Given the description of an element on the screen output the (x, y) to click on. 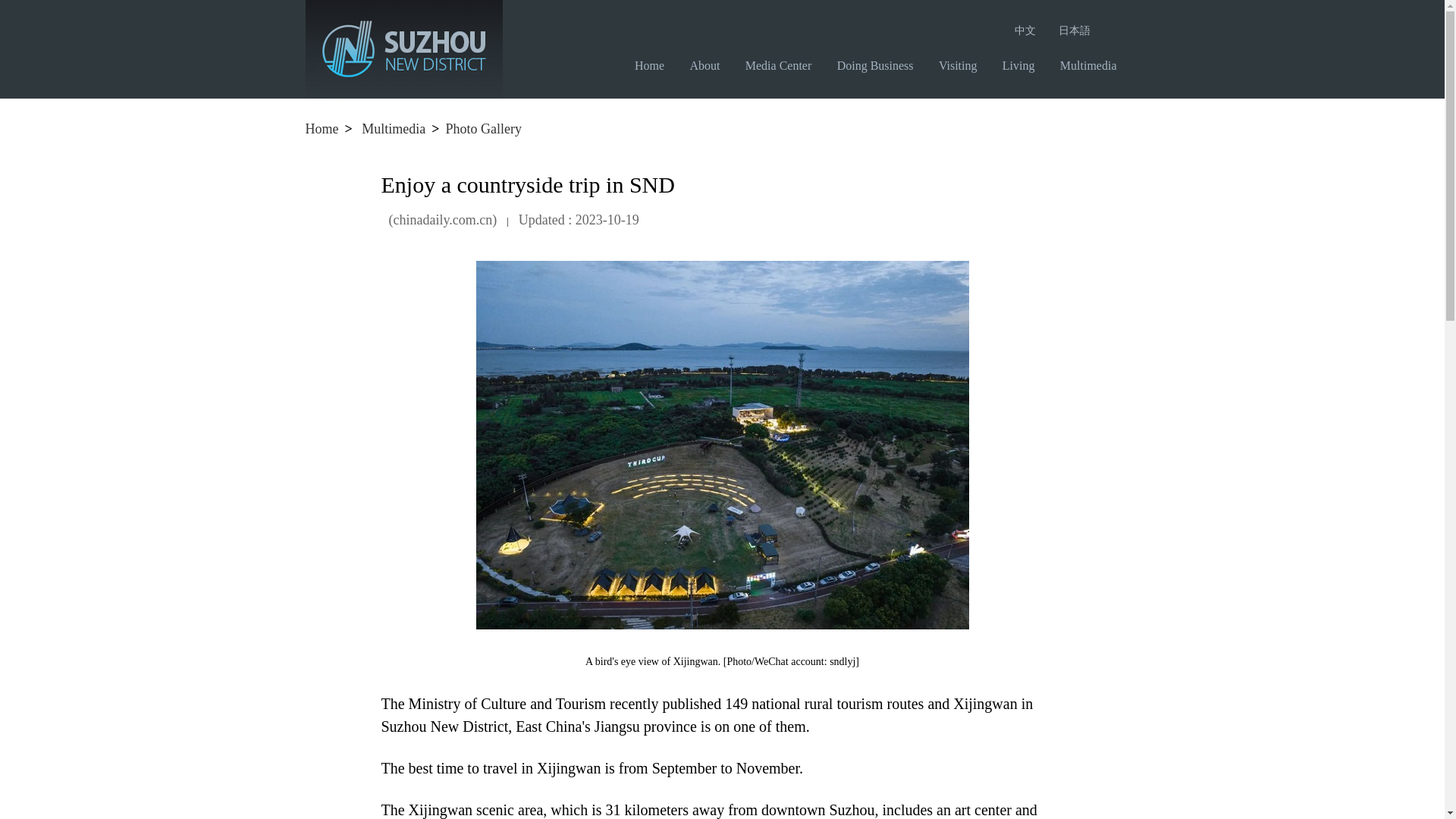
Doing Business (880, 65)
Living (1024, 65)
Home (654, 65)
Multimedia (1093, 65)
Photo Gallery (483, 128)
About (709, 65)
Home (320, 128)
Multimedia (393, 128)
Media Center (784, 65)
